Given the description of an element on the screen output the (x, y) to click on. 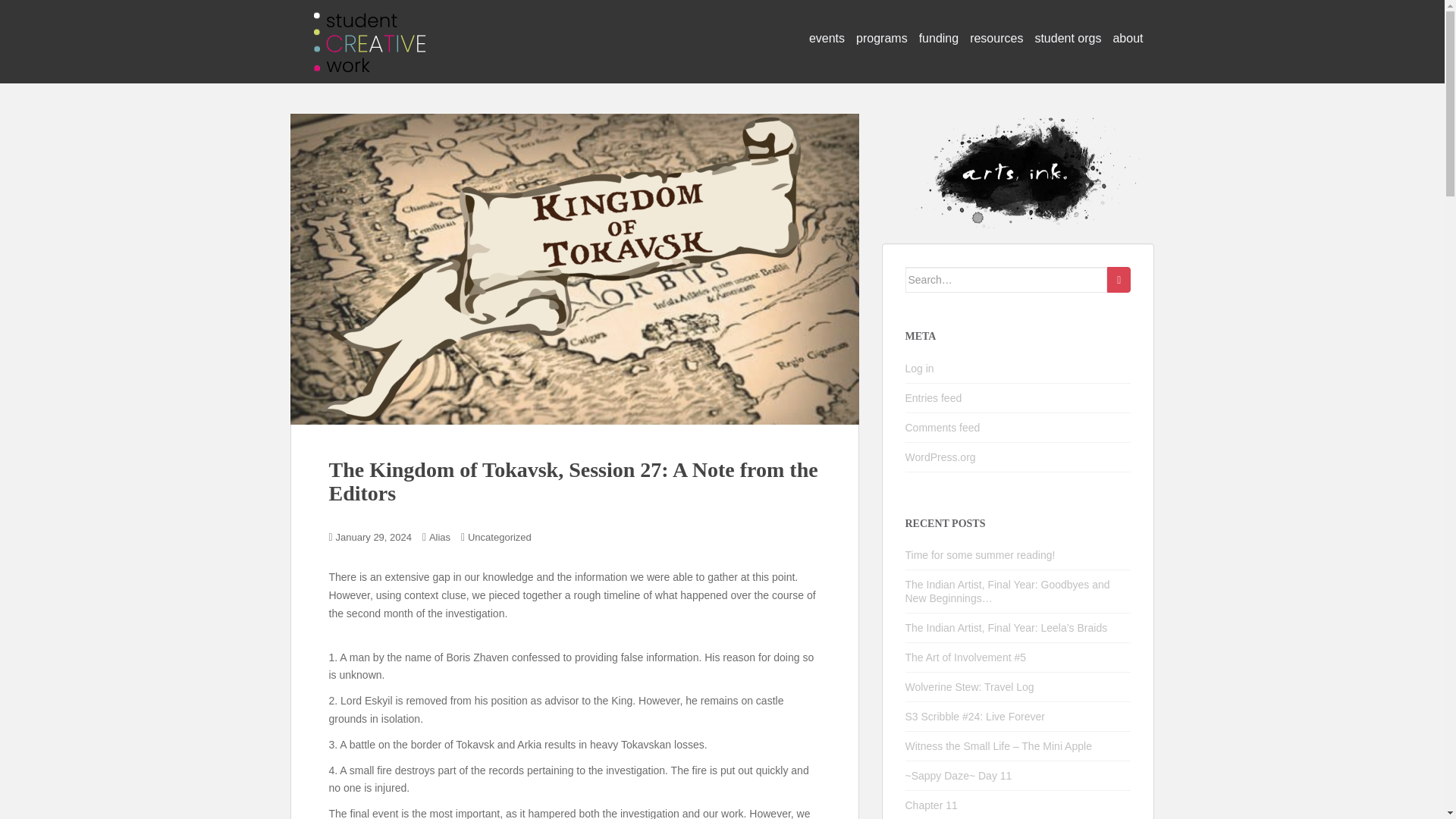
Time for some summer reading! (980, 554)
WordPress.org (940, 457)
January 29, 2024 (374, 536)
Chapter 11 (931, 805)
programs (881, 38)
Wolverine Stew: Travel Log (969, 686)
student orgs (1066, 38)
Comments feed (942, 427)
arts, ink. (368, 26)
events (826, 38)
Uncategorized (499, 536)
funding (938, 38)
Log in (919, 368)
Search for: (1006, 279)
Entries feed (933, 398)
